Given the description of an element on the screen output the (x, y) to click on. 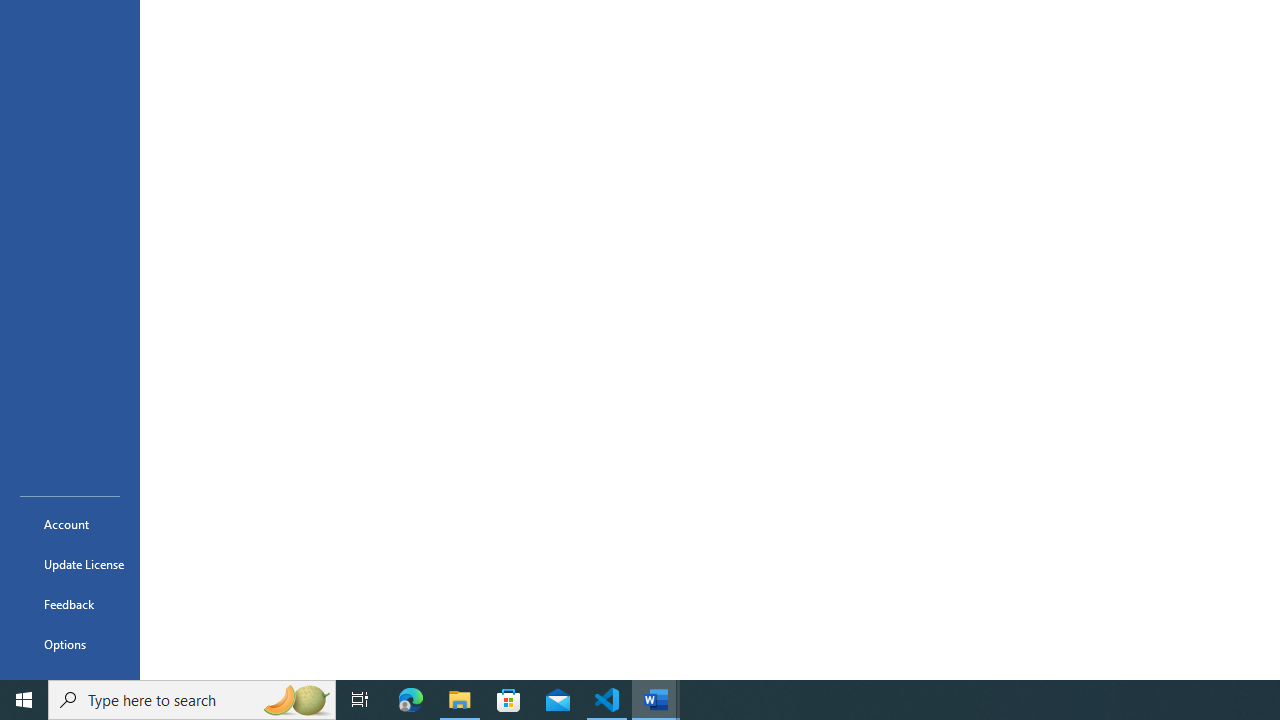
Options (69, 643)
Feedback (69, 603)
Update License (69, 563)
Account (69, 523)
